Given the description of an element on the screen output the (x, y) to click on. 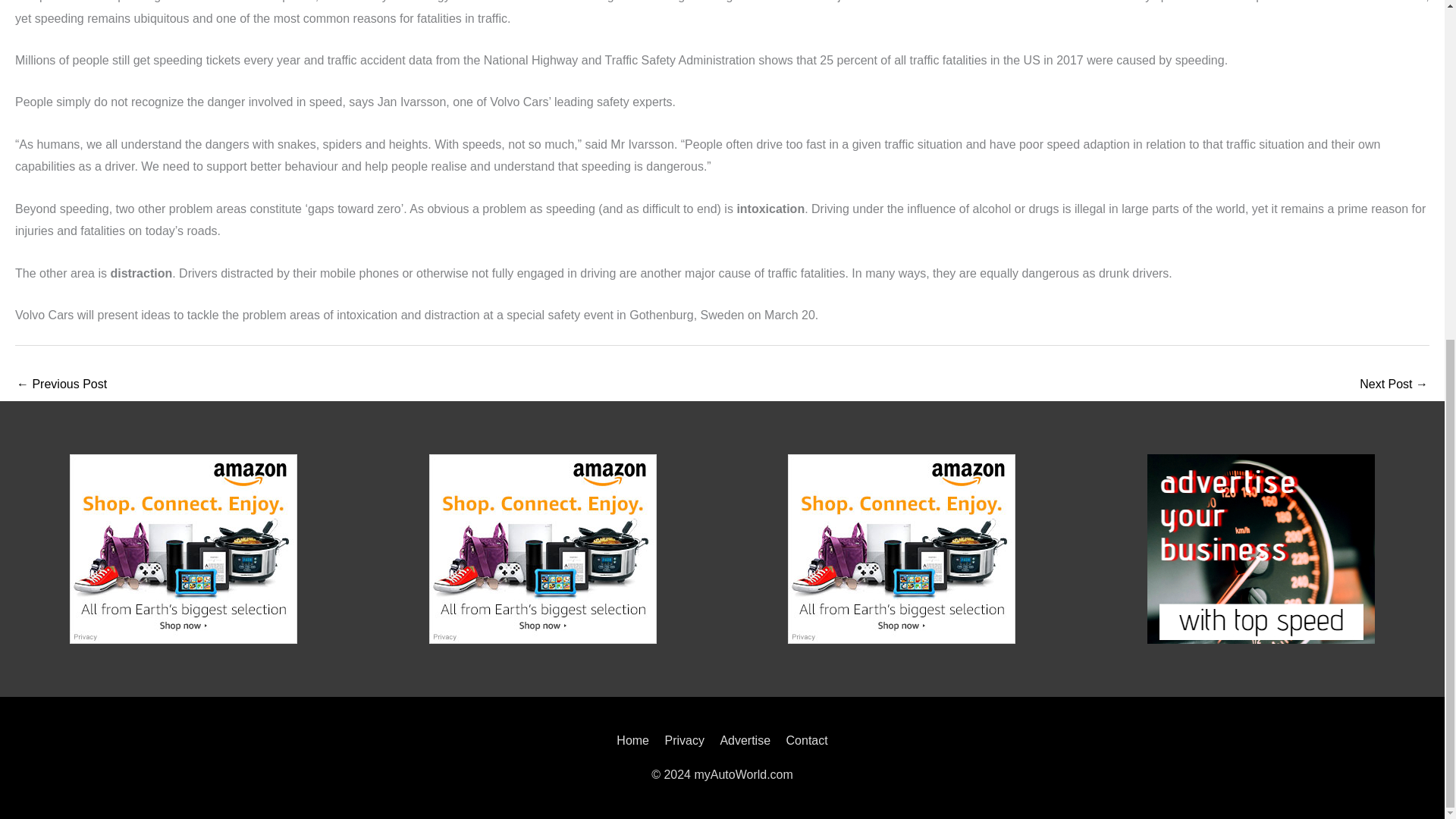
MERCEDES-AMG S 65 FINAL EDITION (1393, 385)
Advertise (744, 739)
Contact (804, 739)
Privacy (684, 739)
FORD MARKS END OF TAURUS PRODUCTION (61, 385)
Home (635, 739)
